Given the description of an element on the screen output the (x, y) to click on. 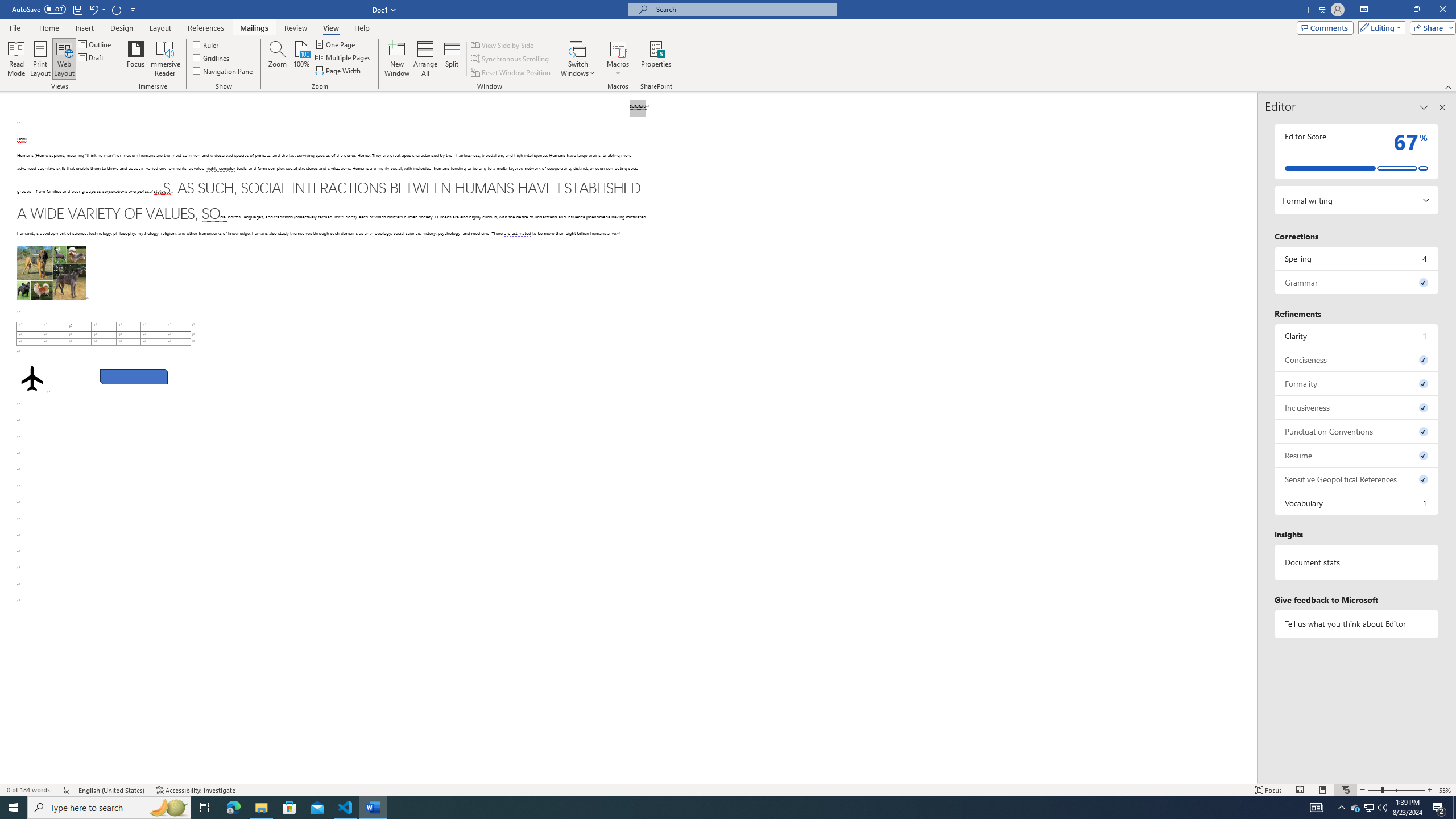
Page Width (338, 69)
Properties (655, 58)
Grammar, 0 issues. Press space or enter to review items. (1356, 282)
Switch Windows (577, 58)
Editor Score 67% (1356, 151)
Spelling and Grammar Check Errors (65, 790)
Editing (1379, 27)
Outline (95, 44)
